Given the description of an element on the screen output the (x, y) to click on. 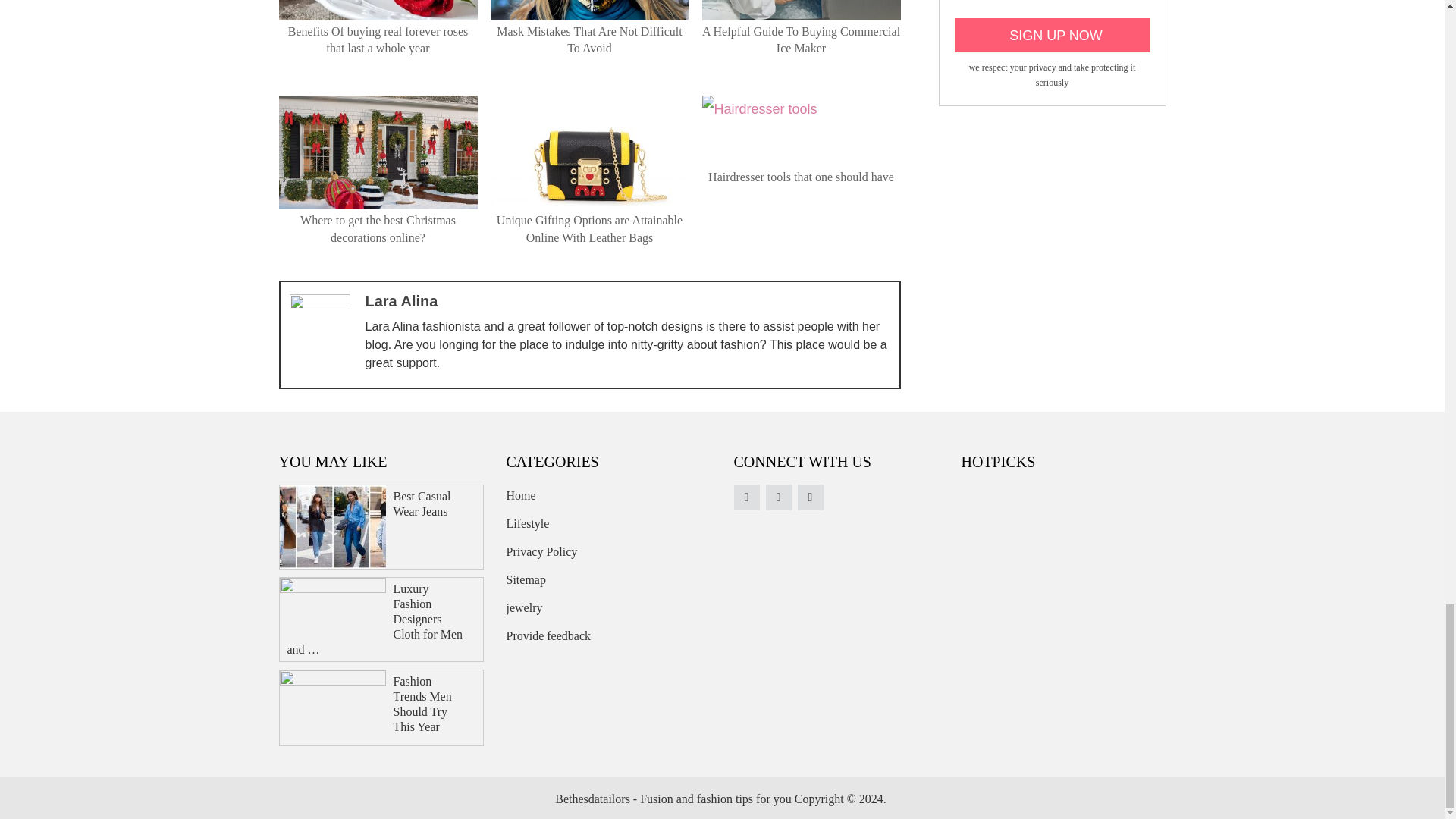
A Helpful Guide To Buying Commercial Ice Maker (800, 39)
Mask Mistakes That Are Not Difficult To Avoid (588, 39)
A Helpful Guide To Buying Commercial Ice Maker (800, 39)
Sign Up Now (1051, 35)
Where to get the best Christmas decorations online? (377, 228)
Mask Mistakes That Are Not Difficult To Avoid (588, 39)
Benefits Of buying real forever roses that last a whole year (378, 39)
Benefits Of buying real forever roses that last a whole year (378, 39)
Lara Alina (401, 300)
